Given the description of an element on the screen output the (x, y) to click on. 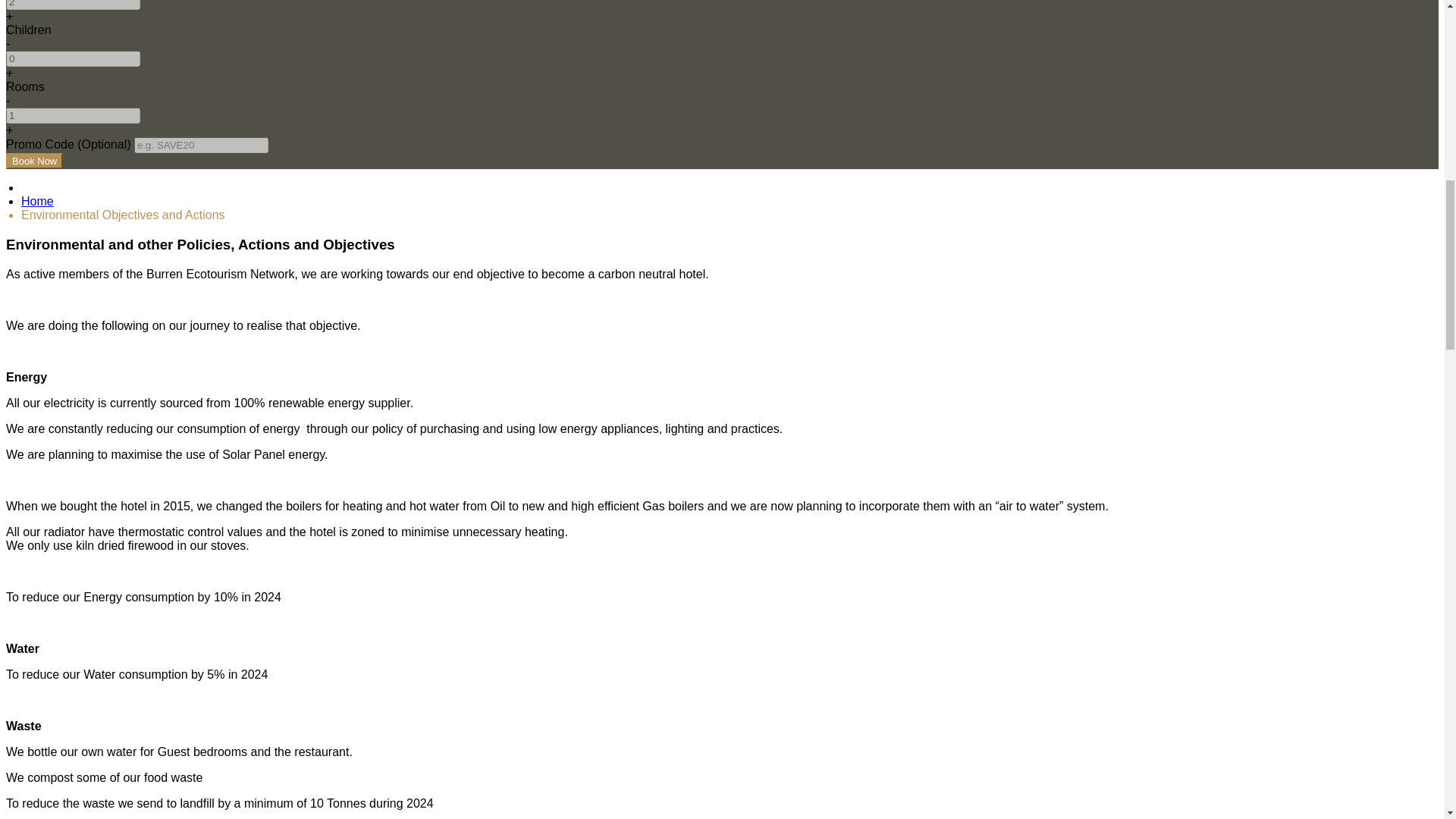
0 (72, 58)
1 (72, 115)
Book Now (33, 160)
2 (72, 4)
